Given the description of an element on the screen output the (x, y) to click on. 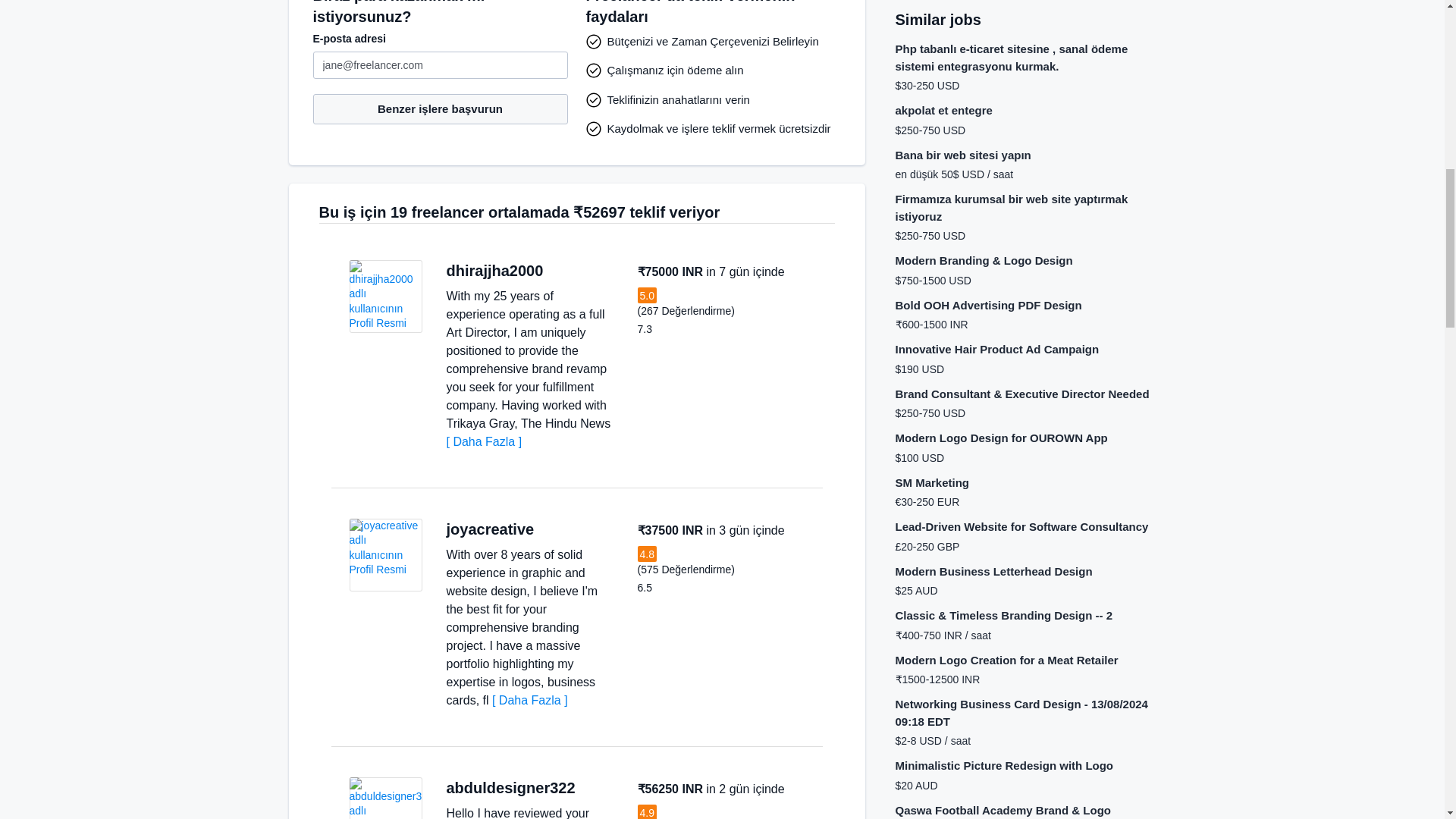
India (558, 271)
India (549, 529)
United Kingdom (589, 787)
joyacreative (489, 528)
dhirajjha2000 (494, 270)
Daha Fazla (483, 440)
Daha Fazla (529, 699)
abduldesigner322 (510, 787)
